Given the description of an element on the screen output the (x, y) to click on. 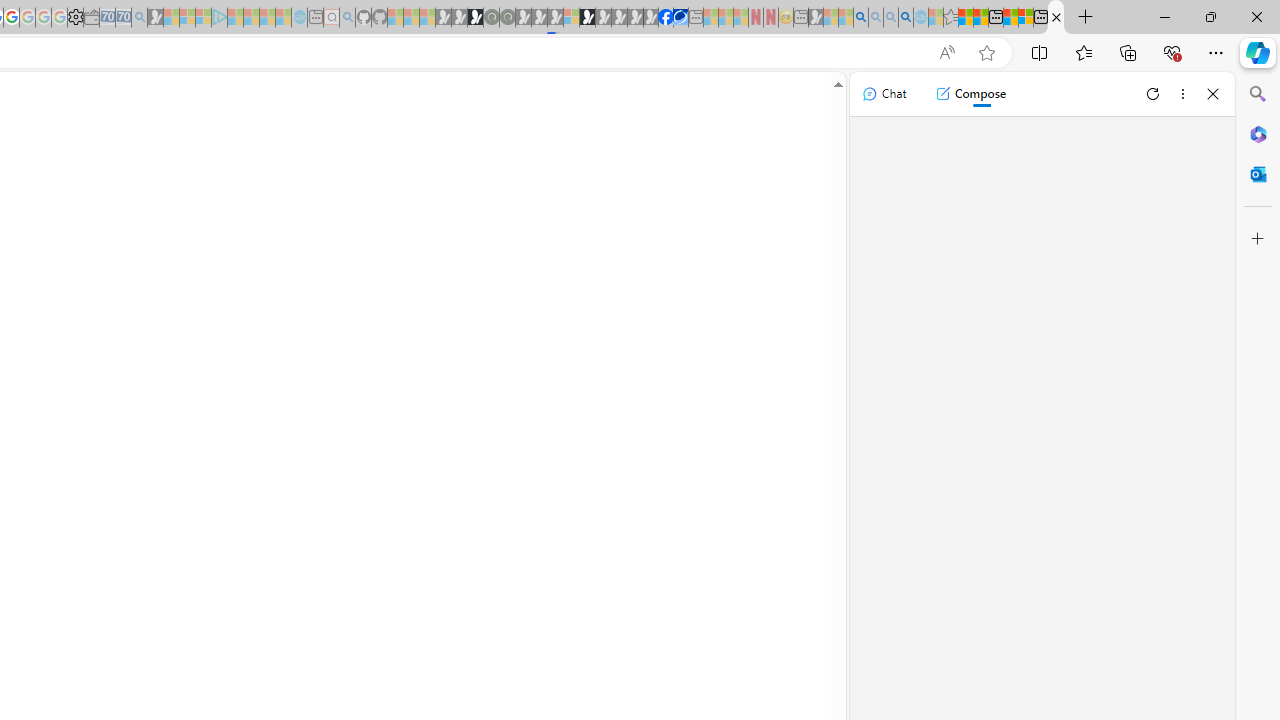
Bing Real Estate - Home sales and rental listings - Sleeping (139, 17)
AQI & Health | AirNow.gov (681, 17)
